Given the description of an element on the screen output the (x, y) to click on. 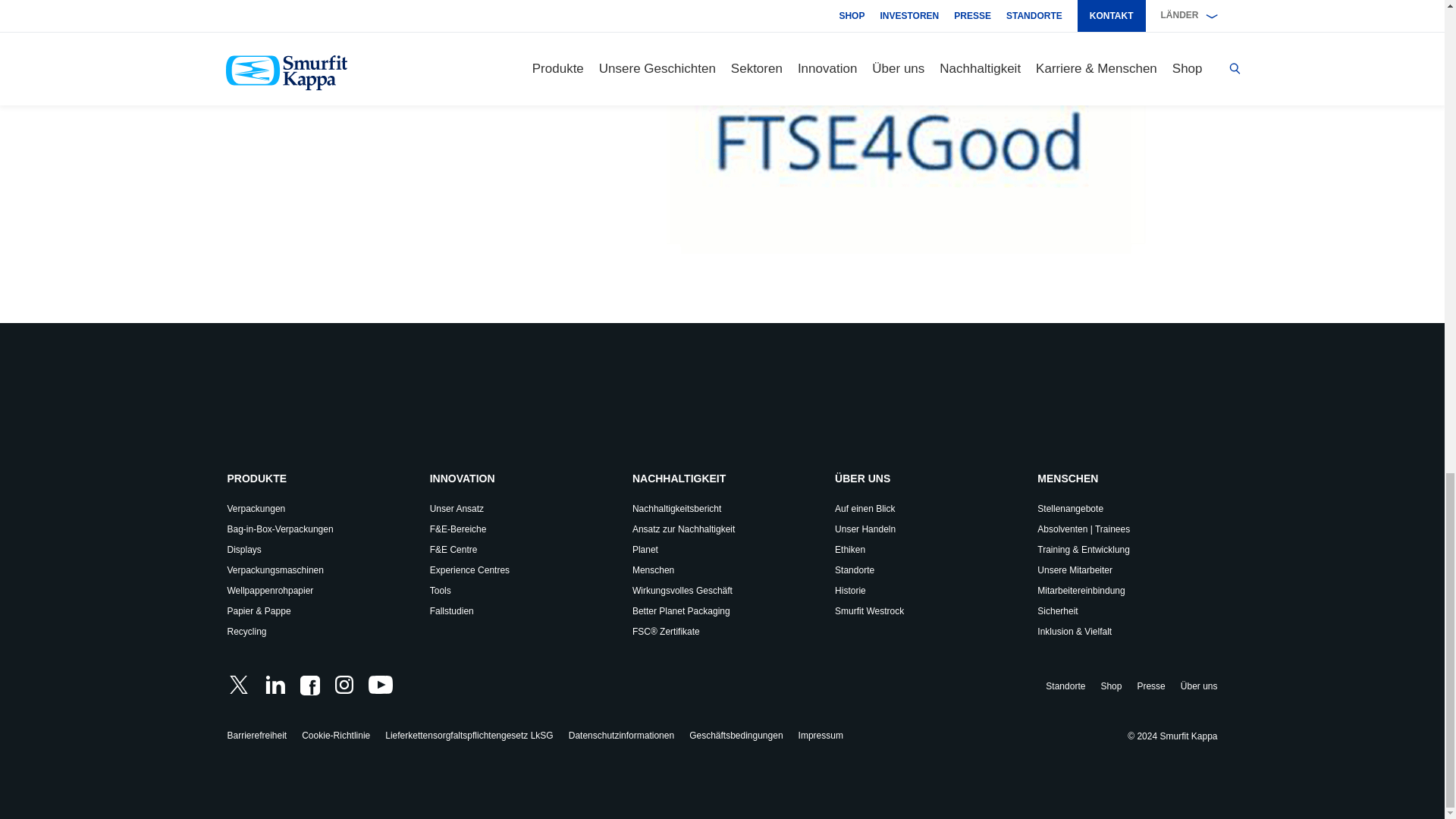
Instagram (343, 684)
YouTube (380, 684)
Facebook (309, 685)
LinkedIn (274, 684)
Twitter (238, 684)
